Given the description of an element on the screen output the (x, y) to click on. 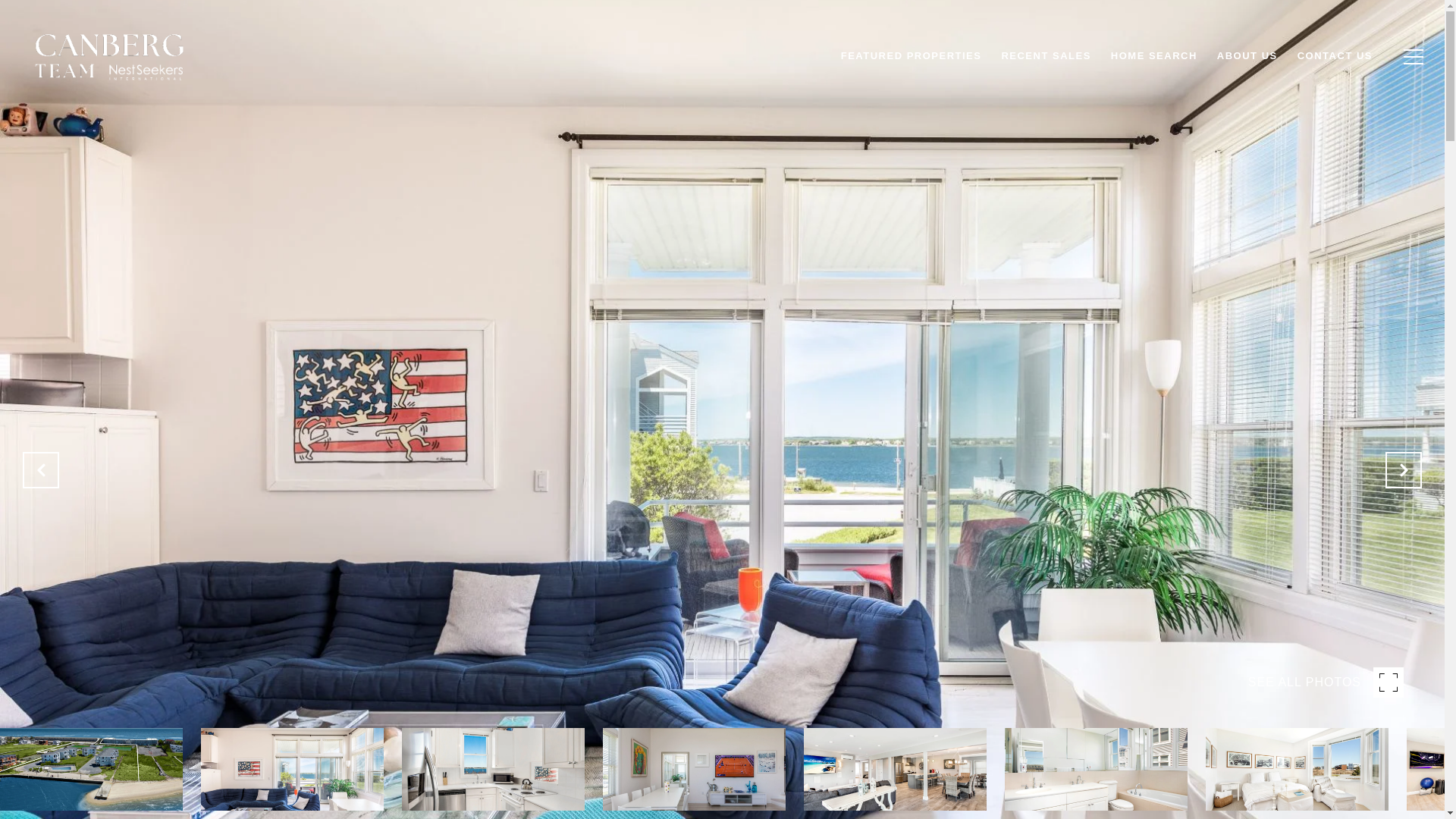
FEATURED PROPERTIES (911, 55)
HOME SEARCH (1153, 55)
ABOUT US (1247, 55)
CONTACT US (1334, 55)
RECENT SALES (1045, 55)
